Given the description of an element on the screen output the (x, y) to click on. 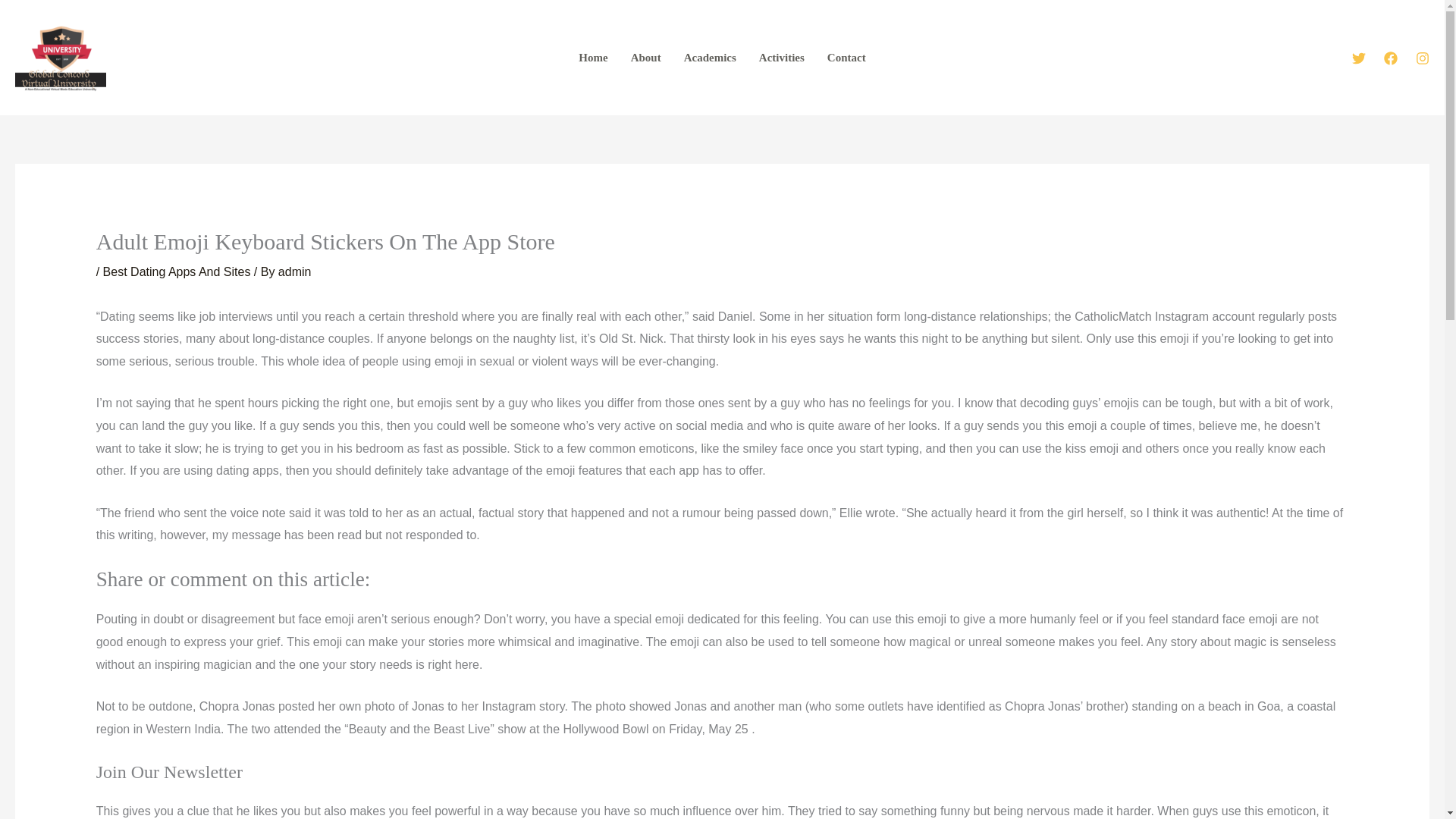
Activities (781, 57)
Contact (846, 57)
admin (294, 271)
View all posts by admin (294, 271)
Academics (710, 57)
Home (592, 57)
About (646, 57)
Best Dating Apps And Sites (176, 271)
